Given the description of an element on the screen output the (x, y) to click on. 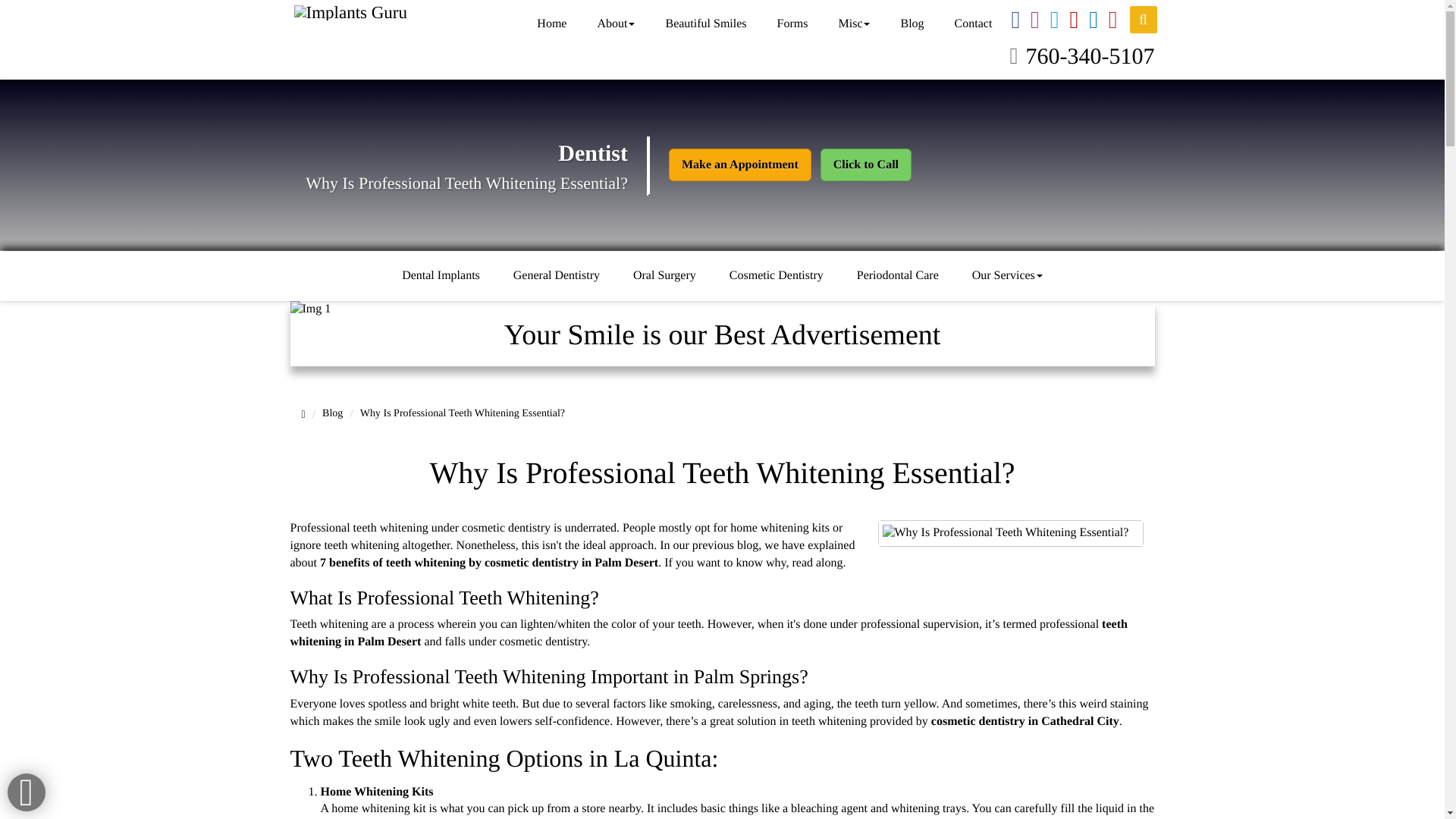
Why Is Professional Teeth Whitening Essential? (1010, 533)
Misc (853, 24)
LinkedIn (1093, 24)
Dental Implants (441, 275)
Youtube (1073, 24)
Cosmetic Dentistry (776, 275)
Instagram (1034, 24)
General Dentistry (555, 275)
Home (550, 24)
Make an Appointment (739, 164)
